Given the description of an element on the screen output the (x, y) to click on. 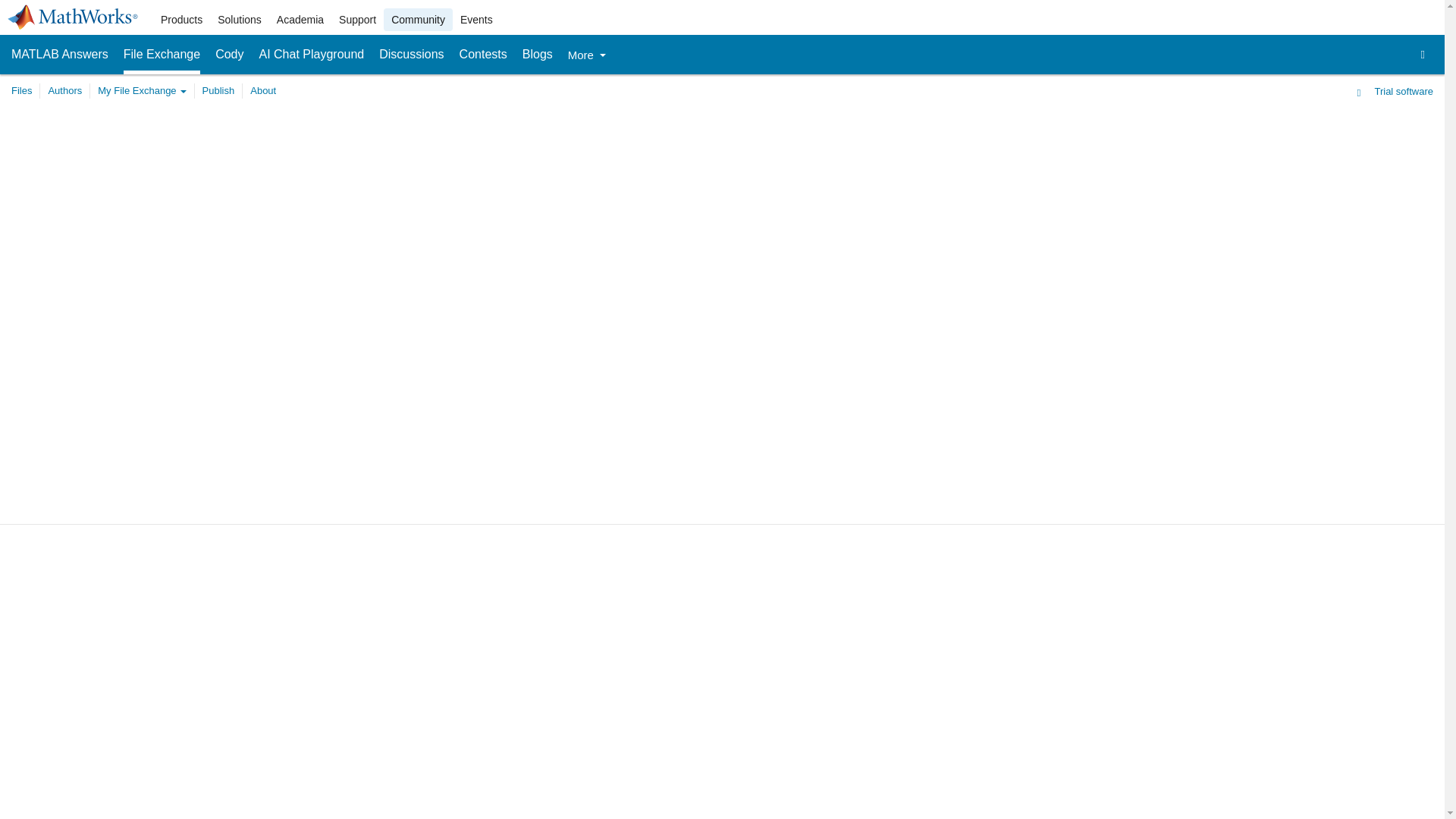
File Exchange (161, 54)
Community (418, 19)
MATLAB Answers (59, 54)
Blogs (537, 54)
Discussions (411, 54)
Contests (483, 54)
Support (357, 19)
Events (476, 19)
AI Chat Playground (312, 54)
Cody (229, 54)
More (586, 54)
Academia (300, 19)
Solutions (239, 19)
Products (180, 19)
